Given the description of an element on the screen output the (x, y) to click on. 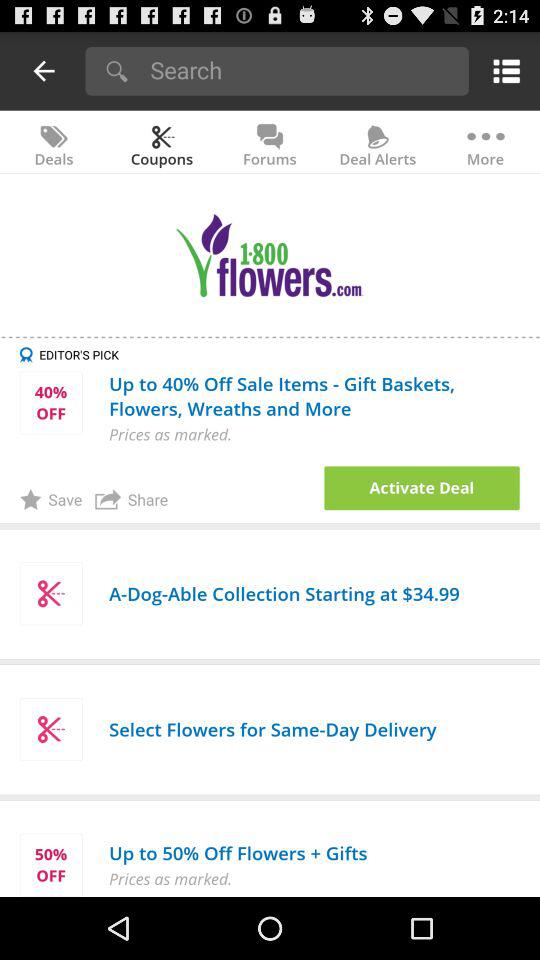
open the menu (502, 70)
